Given the description of an element on the screen output the (x, y) to click on. 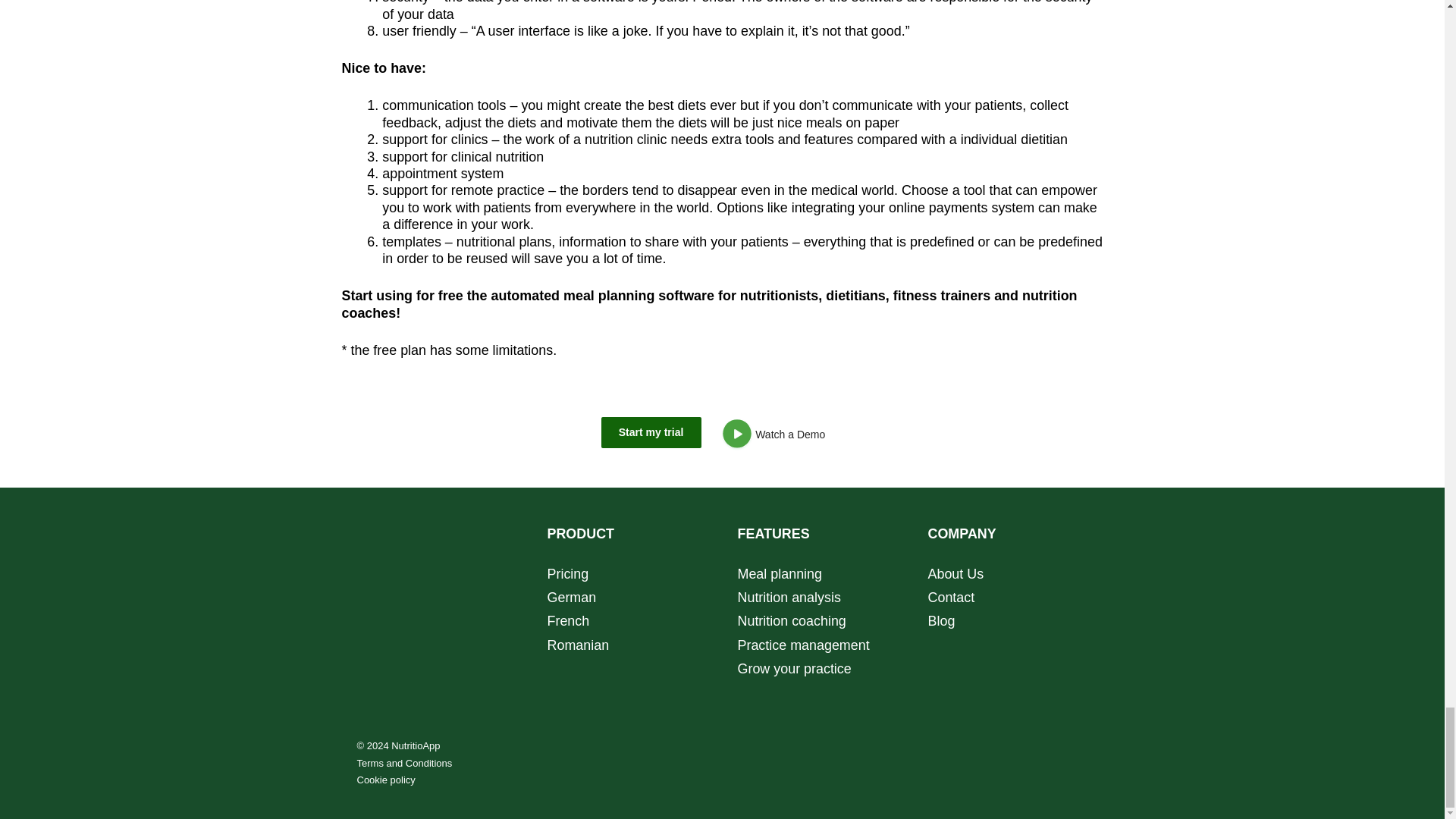
Grow your practice (793, 668)
German (571, 597)
About Us (956, 573)
Contact (951, 597)
Practice management (802, 645)
Nutrition coaching (790, 620)
Meal planning  (780, 573)
Pricing (568, 573)
Nutrition analysis  (790, 597)
French (568, 620)
Start my trial (651, 431)
Romanian (578, 645)
Blog (941, 620)
Watch a Demo (778, 436)
